Given the description of an element on the screen output the (x, y) to click on. 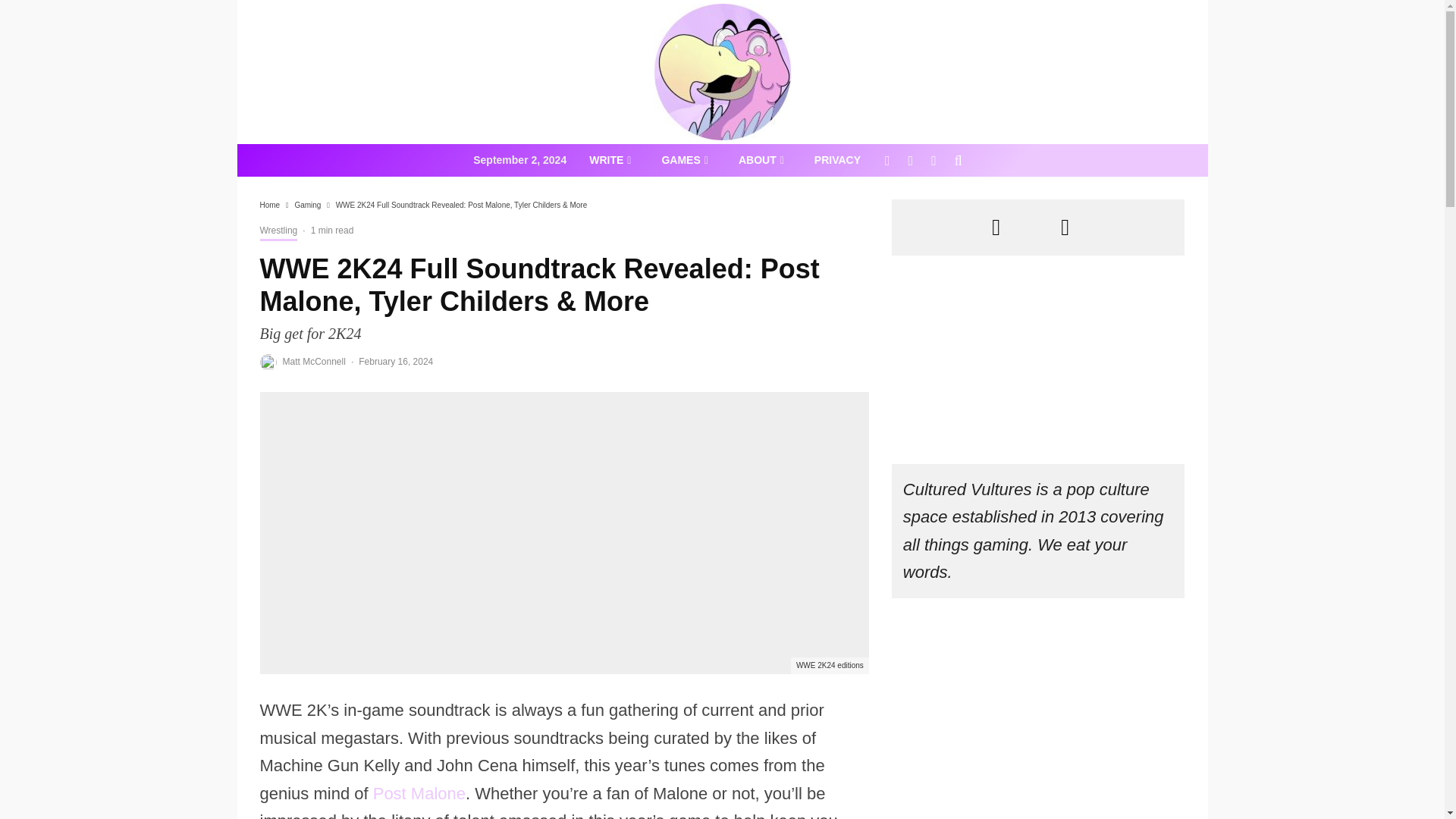
WRITE (609, 160)
Posts by Matt McConnell (313, 361)
GAMES (684, 160)
